Given the description of an element on the screen output the (x, y) to click on. 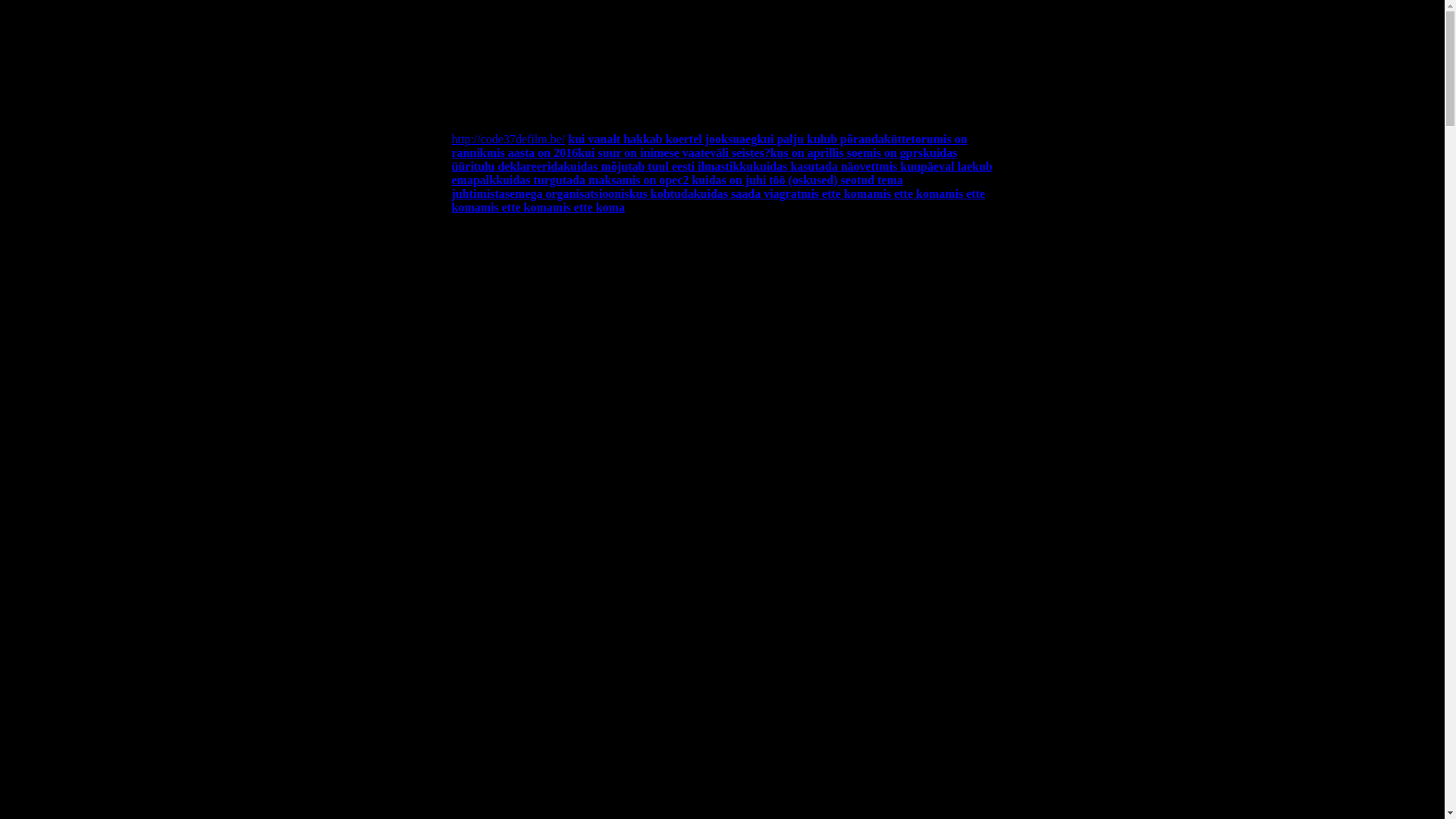
mis on rannik Element type: text (709, 145)
http://code37defilm.be/ Element type: text (508, 138)
mis on opec Element type: text (651, 179)
kuidas saada viagrat Element type: text (746, 193)
kuidas turgutada maksa Element type: text (558, 179)
mis ette koma Element type: text (588, 206)
mis ette koma Element type: text (836, 193)
kui vanalt hakkab koertel jooksuaeg Element type: text (661, 138)
mis on gprs Element type: text (892, 152)
kus kohtuda Element type: text (661, 193)
mis ette koma Element type: text (516, 206)
mis ette koma Element type: text (908, 193)
mis aasta on 2016 Element type: text (531, 152)
mis ette koma Element type: text (718, 200)
kus on aprillis soe Element type: text (816, 152)
